Given the description of an element on the screen output the (x, y) to click on. 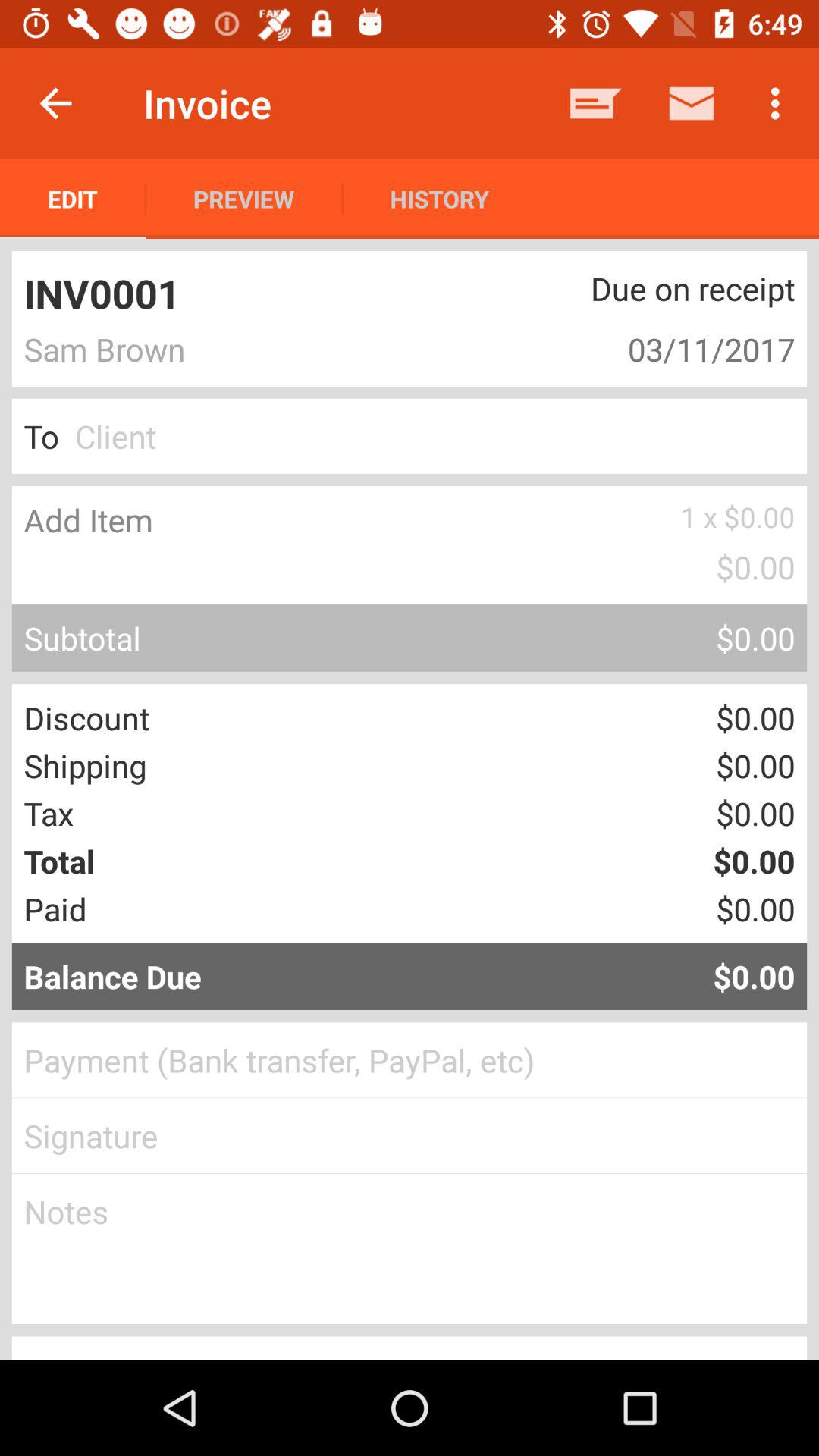
create notes (409, 1248)
